Given the description of an element on the screen output the (x, y) to click on. 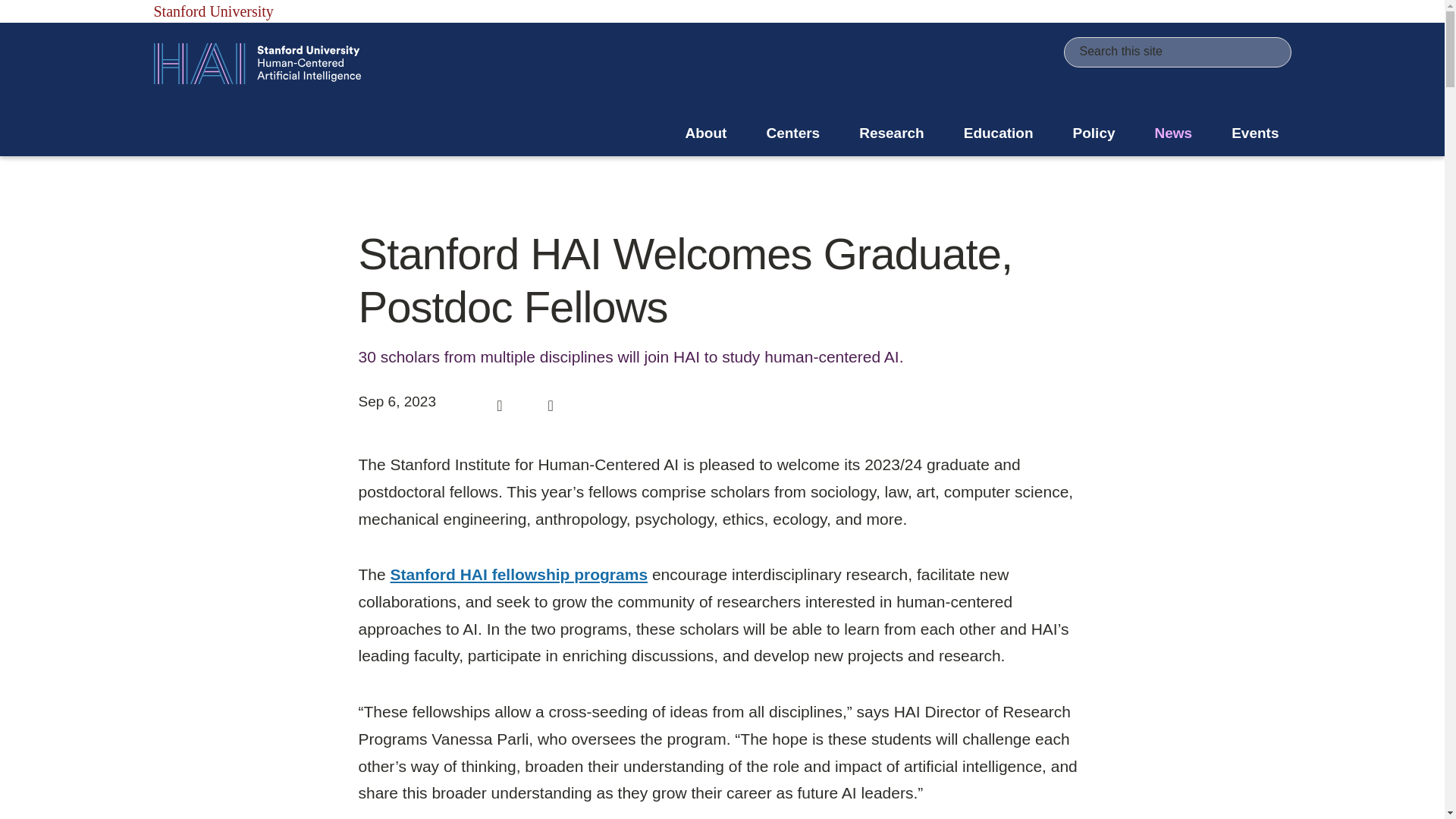
Events (1255, 133)
News (1173, 133)
Education (998, 133)
Policy (1093, 133)
About (705, 133)
Research (891, 133)
Centers (792, 133)
Submit Search (1269, 52)
